Given the description of an element on the screen output the (x, y) to click on. 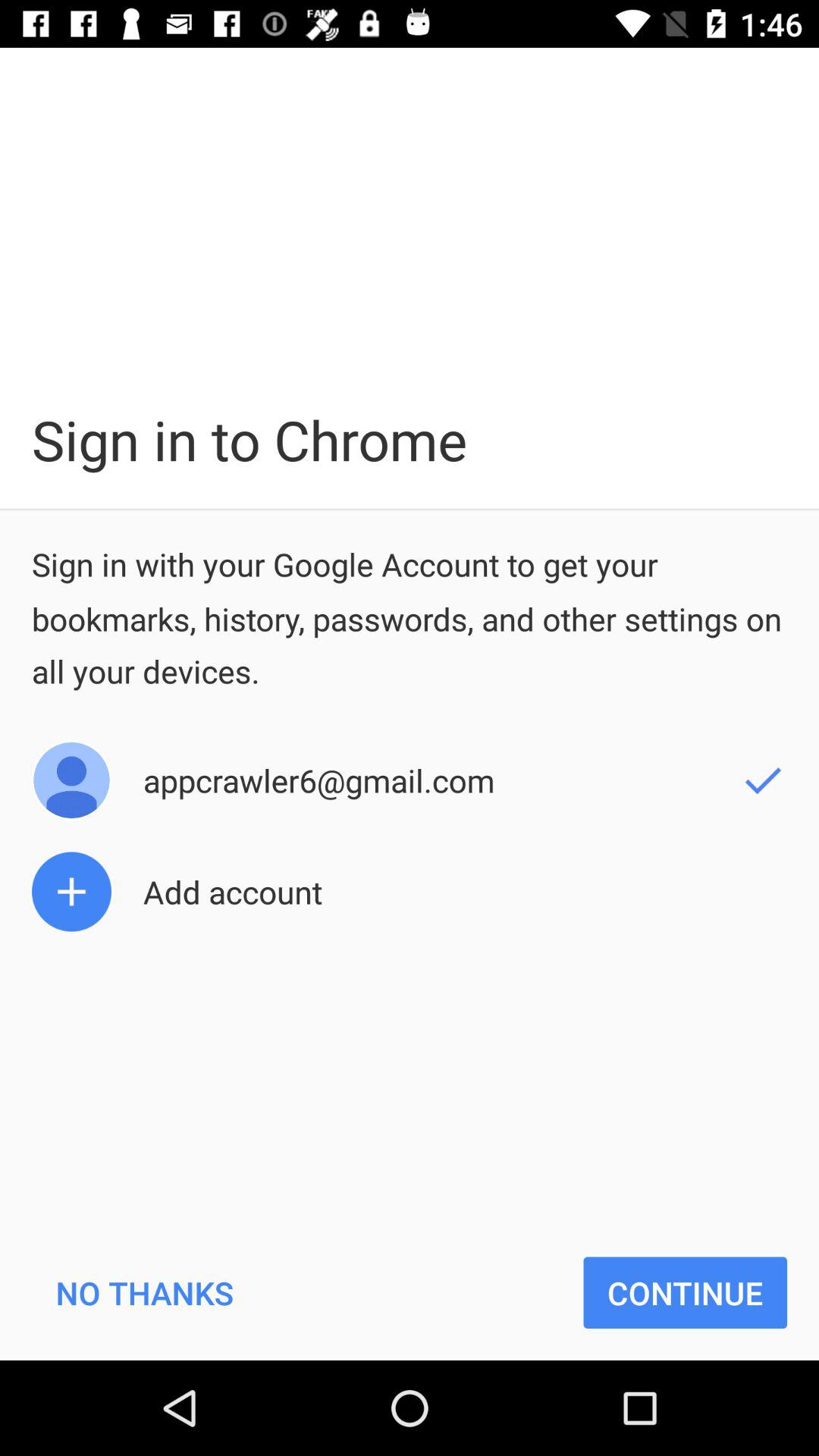
click item to the left of continue icon (144, 1292)
